Given the description of an element on the screen output the (x, y) to click on. 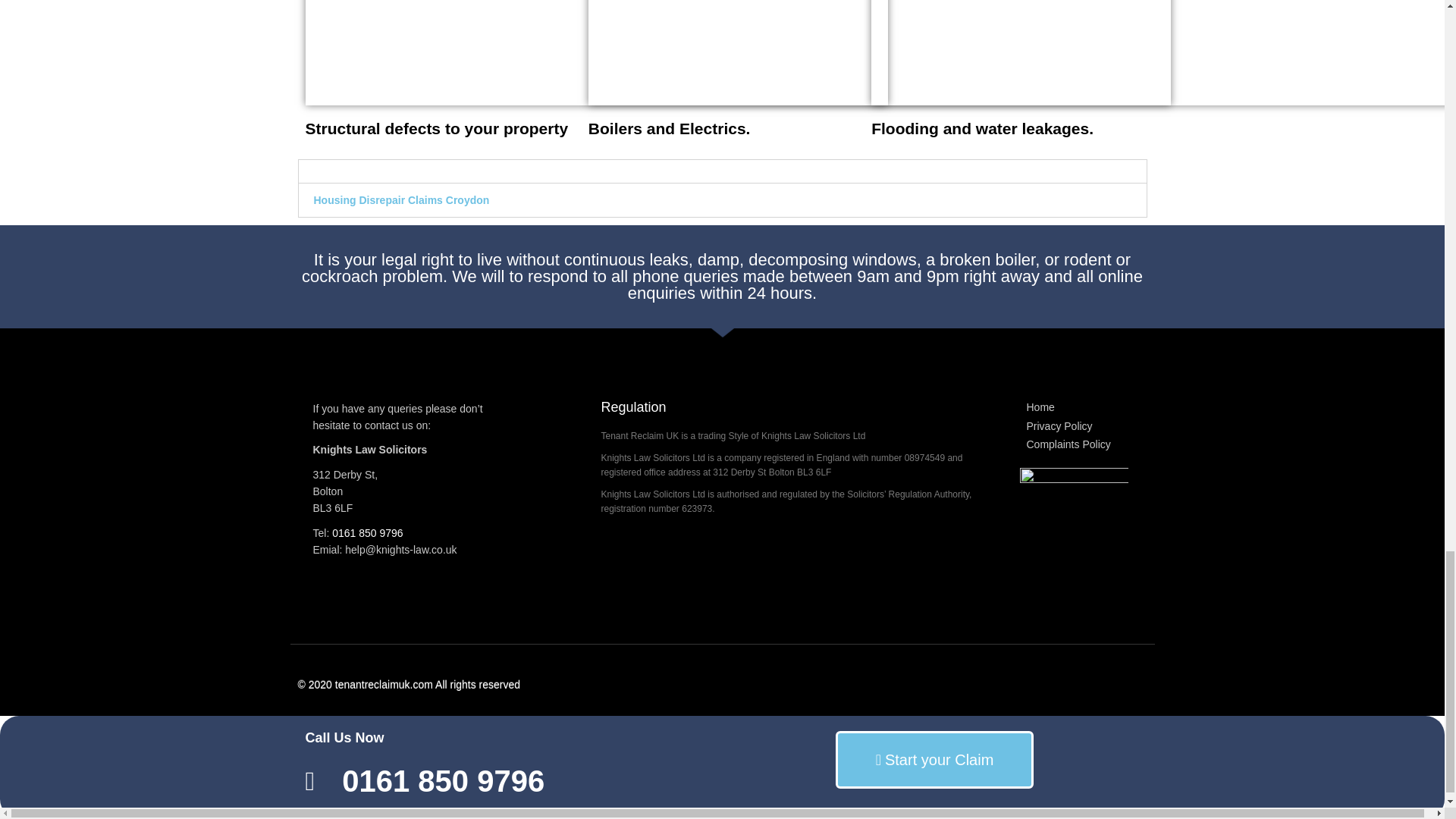
Housing Disrepair Claims Croydon (401, 200)
Privacy Policy (1074, 426)
Start your Claim (934, 759)
Home (1074, 407)
Complaints Policy (1074, 444)
0161 850 9796 (367, 532)
tenantreclaimuk.com (383, 684)
0161 850 9796 (509, 781)
